Given the description of an element on the screen output the (x, y) to click on. 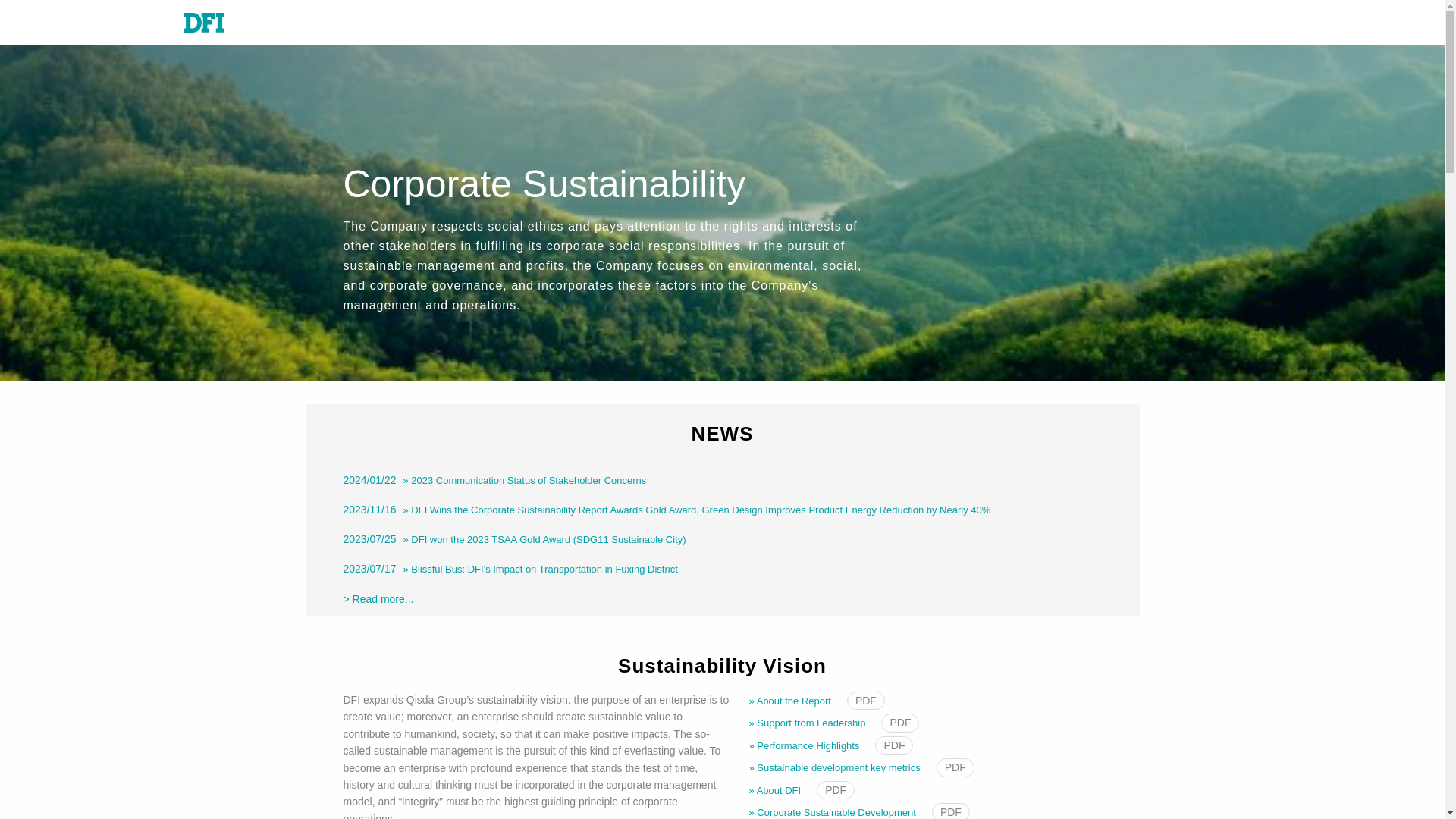
South (882, 23)
South (732, 35)
South (654, 22)
South (907, 23)
DFI (192, 22)
South (934, 24)
South (961, 23)
South (35, 18)
